Given the description of an element on the screen output the (x, y) to click on. 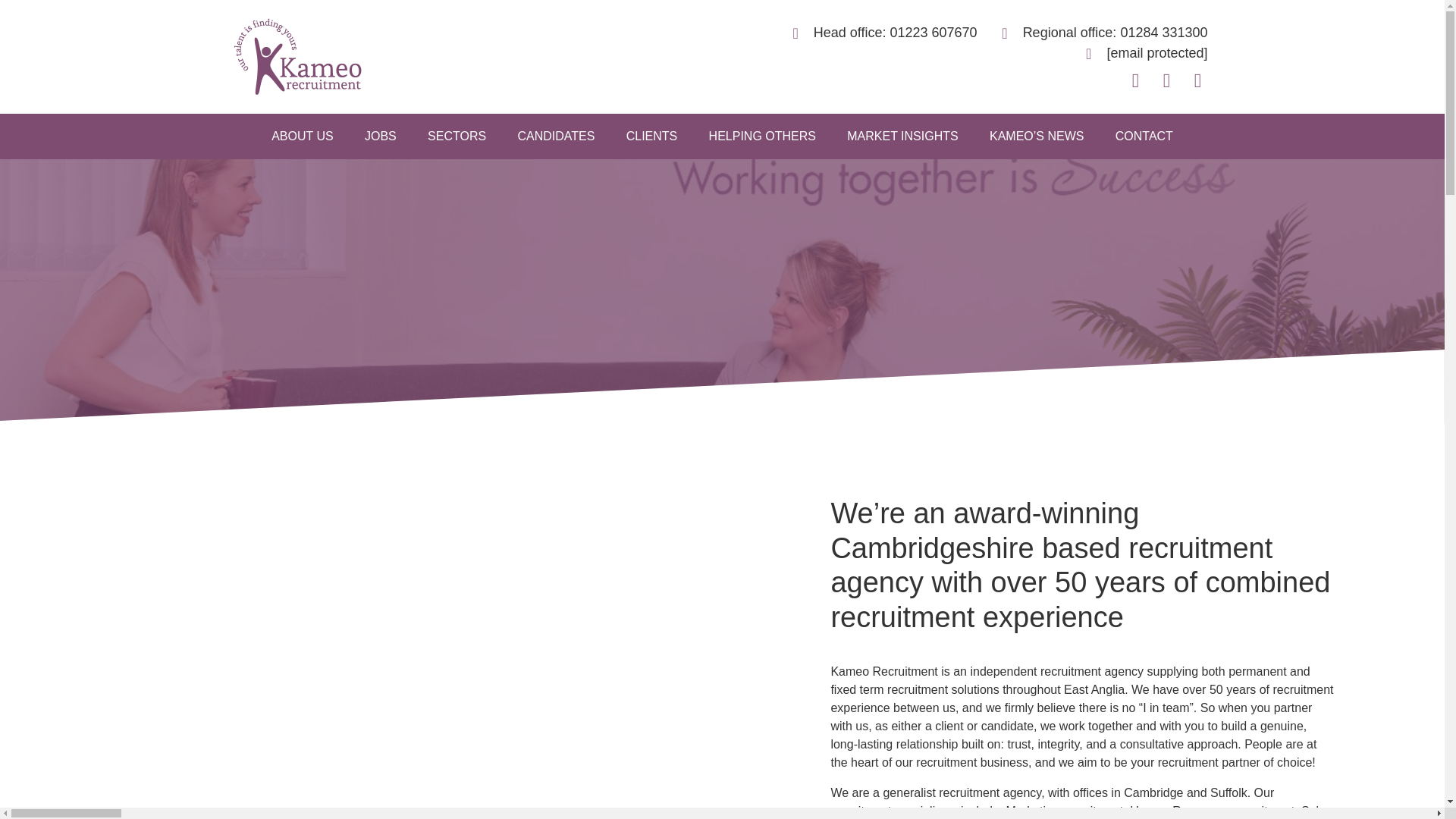
MARKET INSIGHTS (902, 136)
CONTACT (1143, 136)
ABOUT US (301, 136)
Head office: 01223 607670 (877, 32)
CANDIDATES (555, 136)
HELPING OTHERS (762, 136)
JOBS (379, 136)
SECTORS (456, 136)
Regional office: 01284 331300 (1098, 32)
CLIENTS (651, 136)
